Given the description of an element on the screen output the (x, y) to click on. 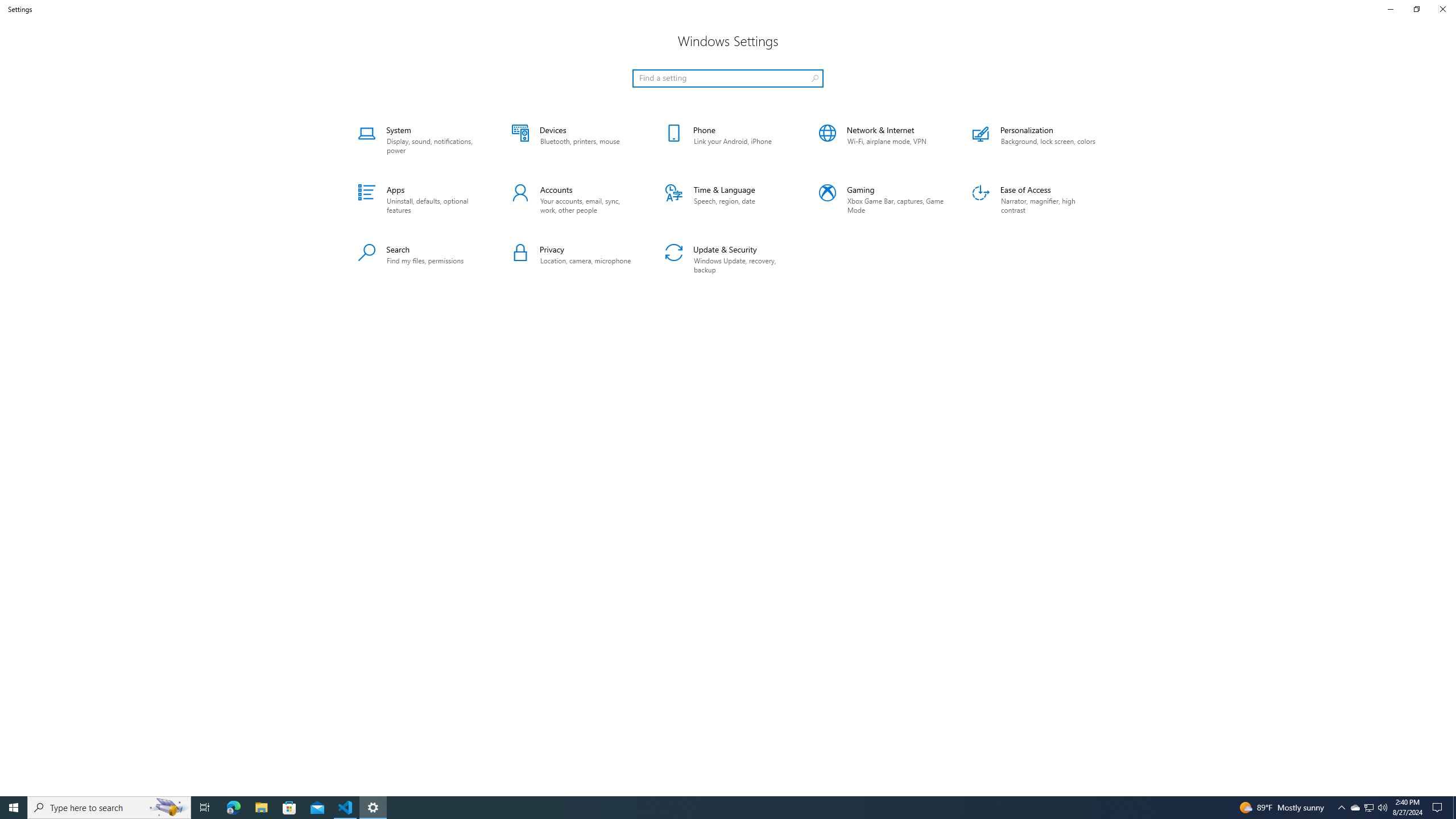
Phone (727, 140)
Accounts (574, 200)
Gaming (881, 200)
Personalization (1034, 140)
